Given the description of an element on the screen output the (x, y) to click on. 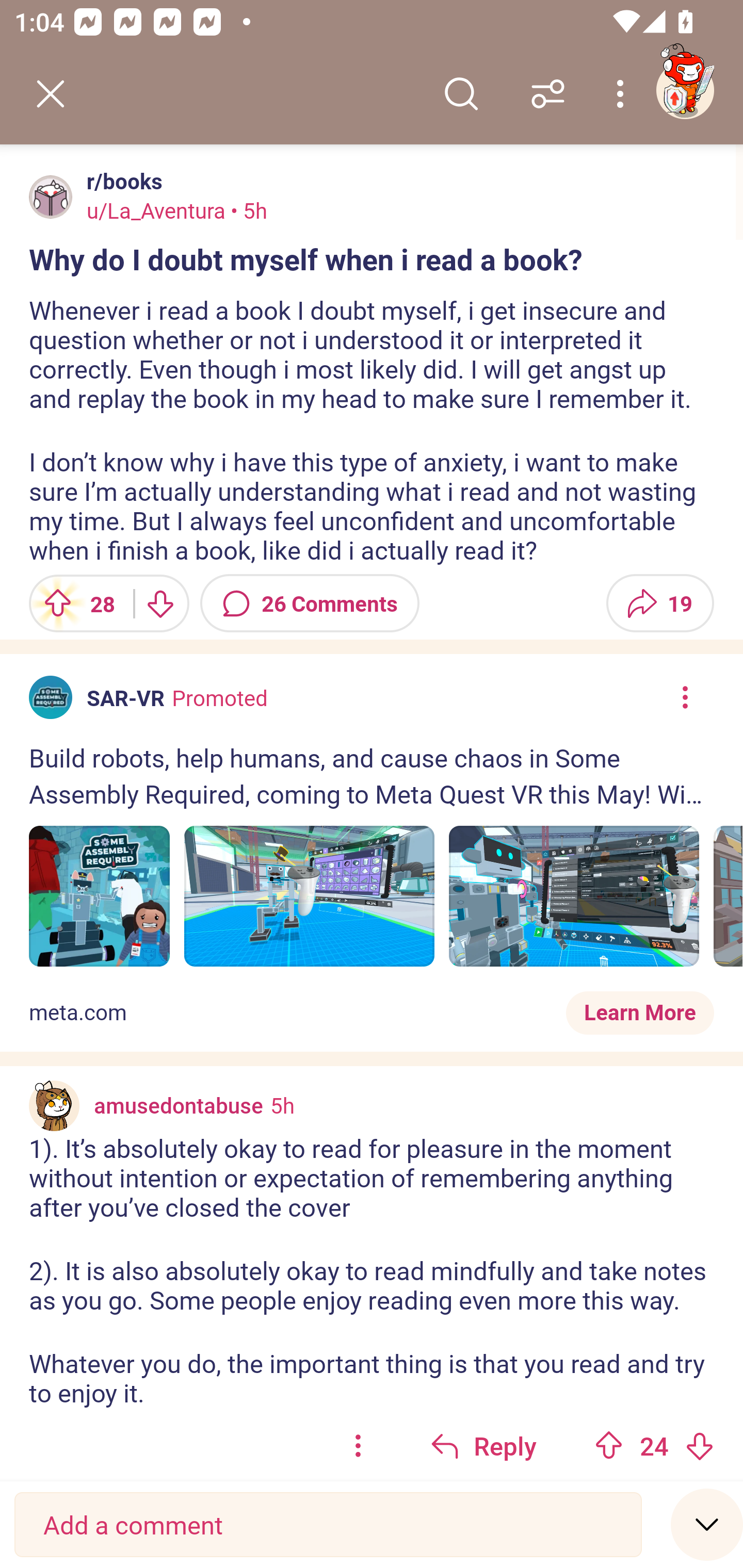
Back (50, 93)
TestAppium002 account (685, 90)
Search comments (460, 93)
Sort comments (547, 93)
More options (623, 93)
r/books (120, 181)
Avatar (50, 196)
u/La_Aventura (155, 210)
Upvote 28 (73, 603)
Downvote (158, 603)
26 Comments (309, 603)
Share 19 (660, 603)
Image 1 of 5.  (98, 895)
Image 2 of 5.  (309, 895)
Image 3 of 5.  (573, 895)
Custom avatar (53, 1105)
5h (282, 1104)
options (358, 1445)
Reply (483, 1445)
Upvote 24 24 votes Downvote (654, 1445)
Upvote (608, 1445)
Downvote (699, 1445)
Speed read (706, 1524)
Add a comment (327, 1524)
